Given the description of an element on the screen output the (x, y) to click on. 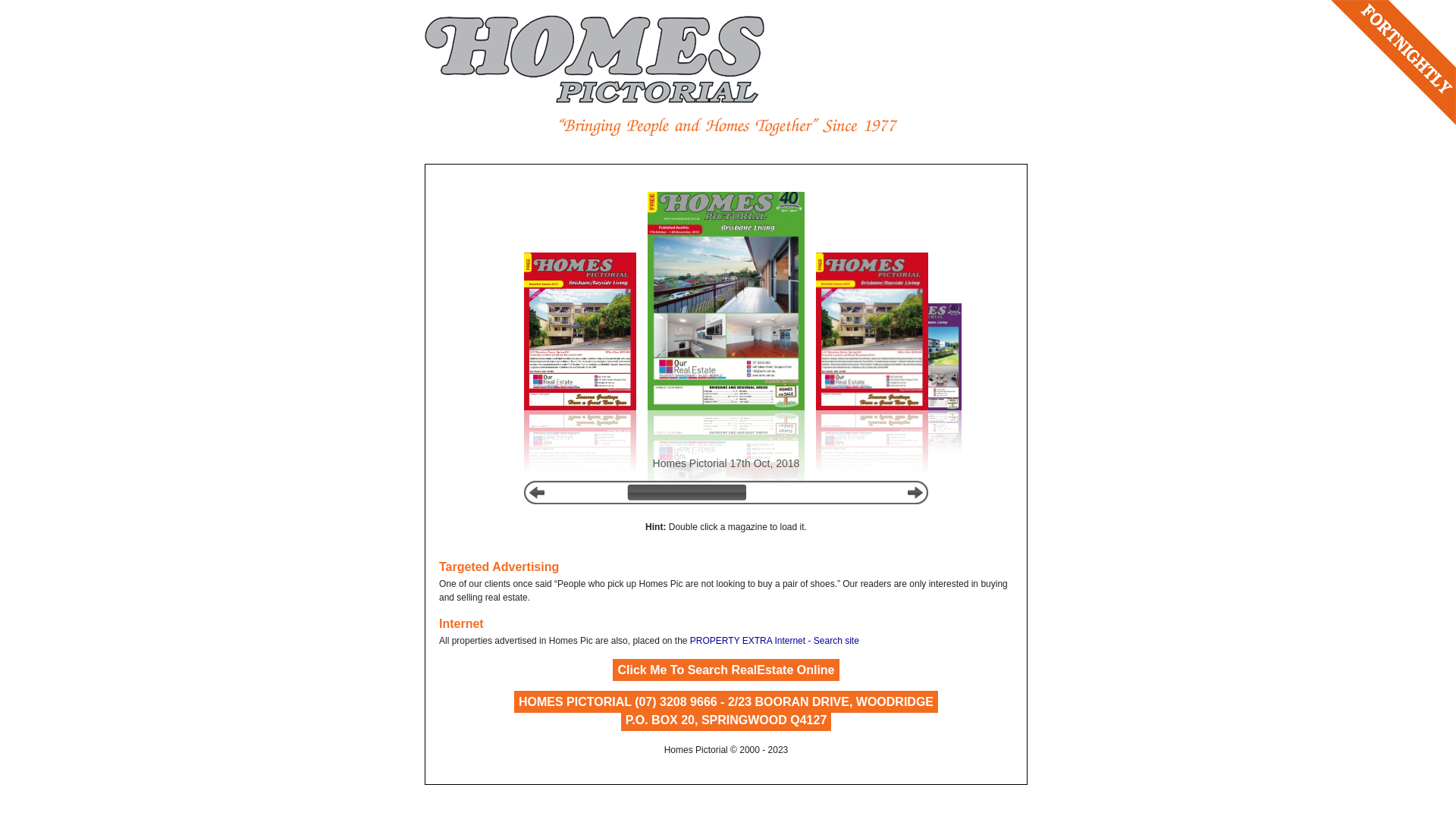
PROPERTY EXTRA Internet - Search site Element type: text (774, 640)
Homes Pictorial Weekly Element type: hover (594, 59)
Bringing People and Homes Together since 1977 Element type: hover (727, 126)
Click Me To Search RealEstate Online Element type: text (725, 670)
